Given the description of an element on the screen output the (x, y) to click on. 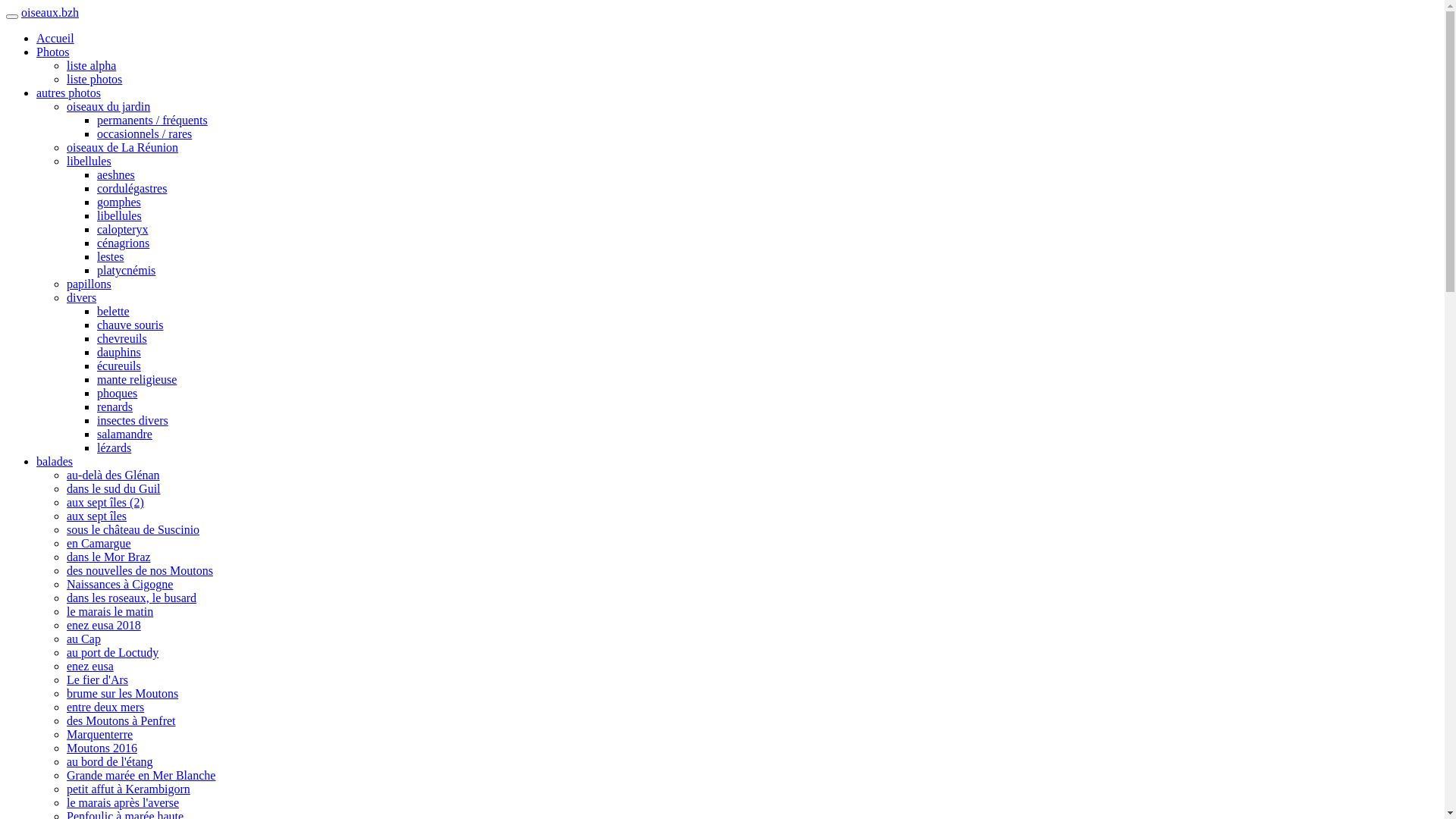
renards Element type: text (114, 406)
occasionnels / rares Element type: text (144, 133)
enez eusa 2018 Element type: text (103, 624)
insectes divers Element type: text (132, 420)
oiseaux du jardin Element type: text (108, 106)
calopteryx Element type: text (122, 228)
Accueil Element type: text (55, 37)
oiseaux.bzh Element type: text (49, 12)
divers Element type: text (81, 297)
liste alpha Element type: text (91, 65)
des nouvelles de nos Moutons Element type: text (139, 570)
balades Element type: text (54, 461)
le marais le matin Element type: text (109, 611)
enez eusa Element type: text (89, 665)
autres photos Element type: text (68, 92)
gomphes Element type: text (119, 201)
dans les roseaux, le busard Element type: text (131, 597)
brume sur les Moutons Element type: text (122, 693)
dauphins Element type: text (119, 351)
dans le sud du Guil Element type: text (113, 488)
libellules Element type: text (119, 215)
Le fier d'Ars Element type: text (97, 679)
Photos Element type: text (52, 51)
Marquenterre Element type: text (99, 734)
au port de Loctudy Element type: text (112, 652)
entre deux mers Element type: text (105, 706)
en Camargue Element type: text (98, 542)
mante religieuse Element type: text (136, 379)
papillons Element type: text (88, 283)
phoques Element type: text (117, 392)
lestes Element type: text (110, 256)
liste photos Element type: text (94, 78)
chevreuils Element type: text (122, 338)
salamandre Element type: text (124, 433)
libellules Element type: text (88, 160)
Moutons 2016 Element type: text (101, 747)
chauve souris Element type: text (130, 324)
au Cap Element type: text (83, 638)
aeshnes Element type: text (115, 174)
belette Element type: text (113, 310)
dans le Mor Braz Element type: text (108, 556)
